Given the description of an element on the screen output the (x, y) to click on. 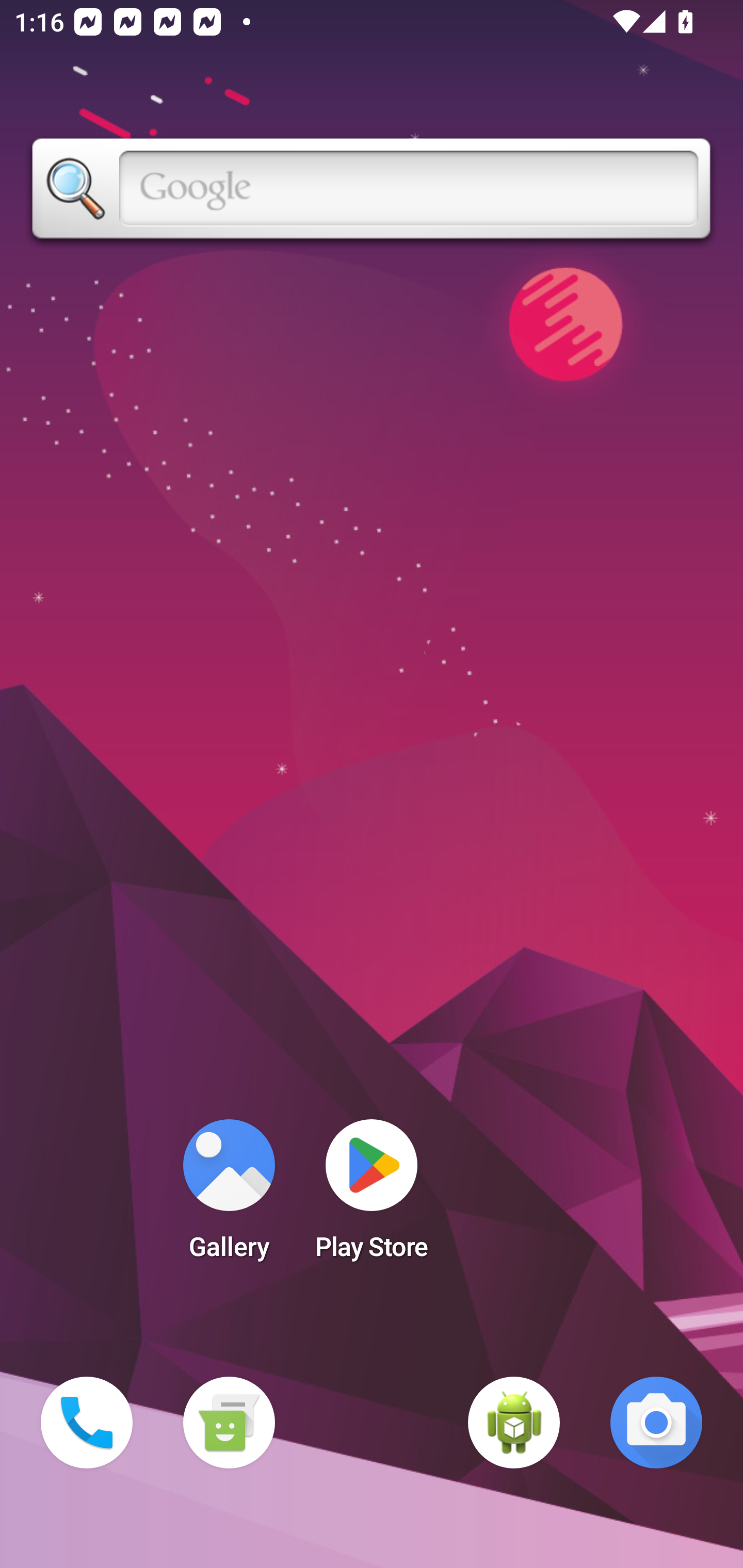
Gallery (228, 1195)
Play Store (371, 1195)
Phone (86, 1422)
Messaging (228, 1422)
WebView Browser Tester (513, 1422)
Camera (656, 1422)
